Given the description of an element on the screen output the (x, y) to click on. 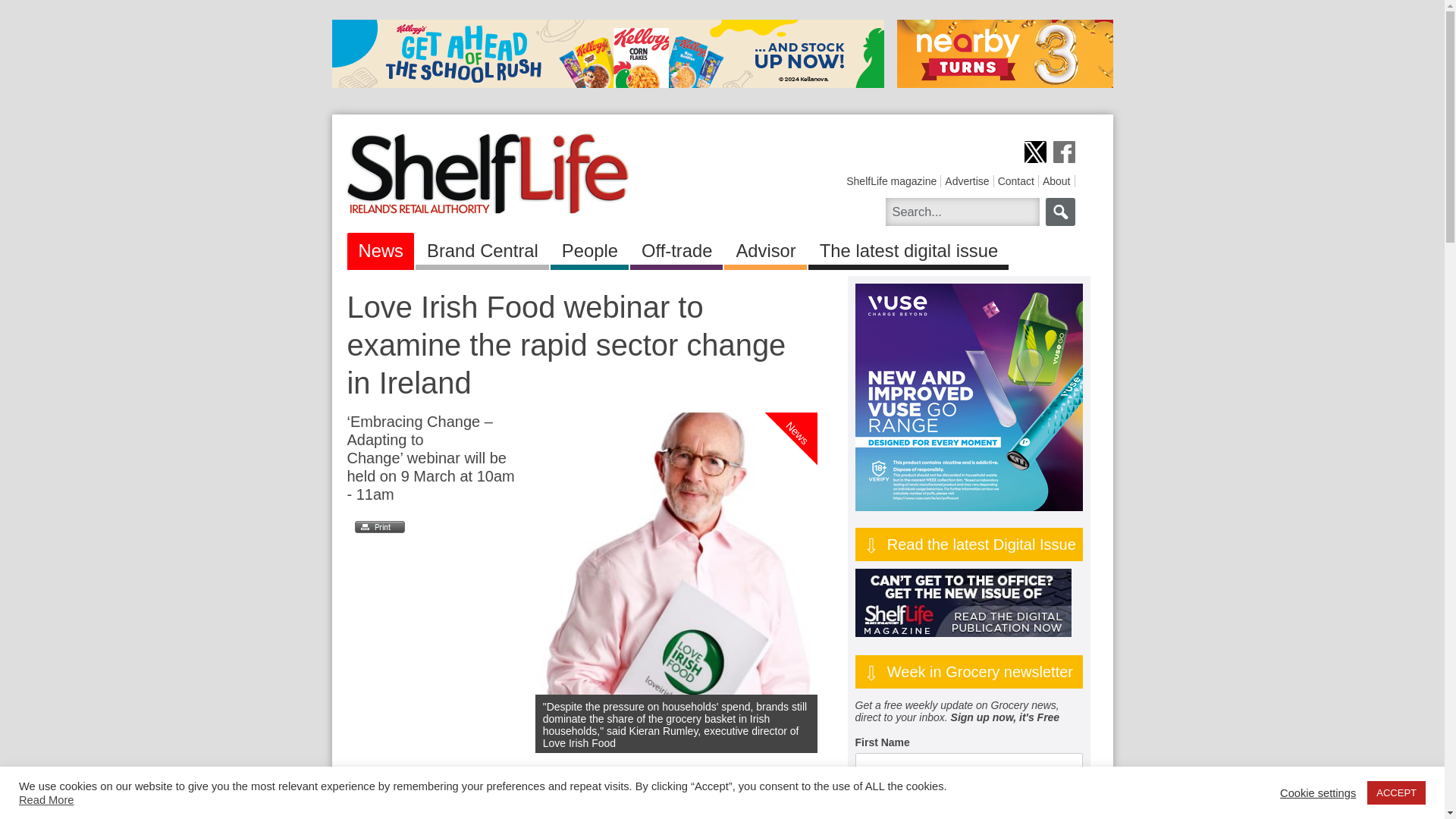
X (443, 810)
Like on Facebook (1063, 151)
Share (470, 810)
Brand Central (481, 248)
Advisor (764, 248)
WhatsApp (415, 810)
Search... (962, 212)
About (1056, 181)
Off-trade (676, 248)
Contact (1015, 181)
Advertise (966, 181)
Follow on Twitter (1034, 151)
Search... (962, 212)
News (380, 248)
News (813, 370)
